Given the description of an element on the screen output the (x, y) to click on. 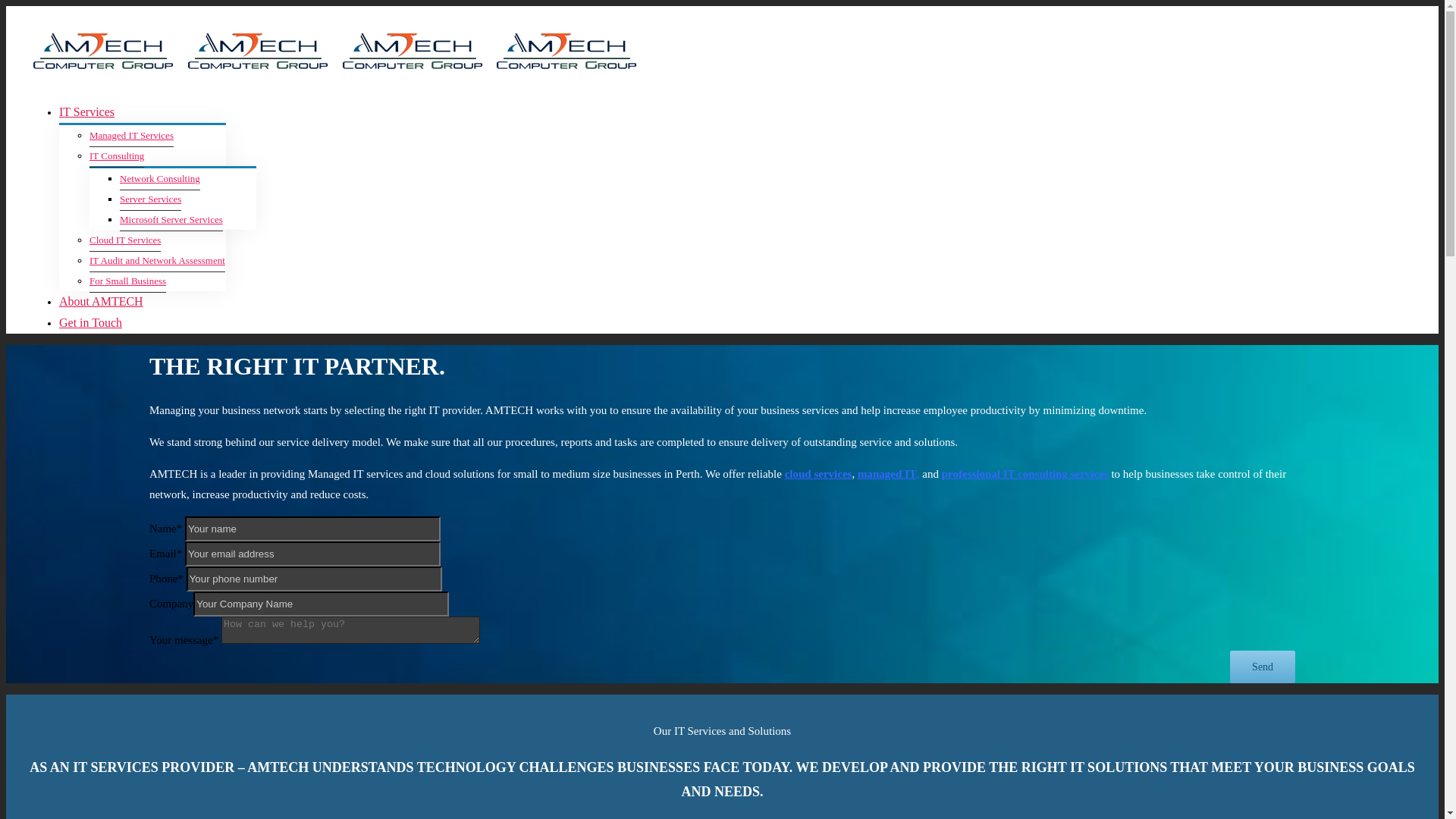
Cloud IT Services Element type: text (124, 240)
Managed IT Services Element type: text (131, 135)
Microsoft Server Services Element type: text (170, 219)
Server Services Element type: text (150, 199)
managed IT Element type: text (886, 473)
Send Element type: text (1262, 666)
cloud services Element type: text (818, 473)
For Small Business Element type: text (127, 280)
About AMTECH Element type: text (101, 299)
Get in Touch Element type: text (90, 321)
IT Audit and Network Assessment Element type: text (157, 260)
Network Consulting Element type: text (159, 178)
professional IT consulting services Element type: text (1024, 473)
IT Consulting Element type: text (116, 155)
IT Services Element type: text (86, 110)
